Given the description of an element on the screen output the (x, y) to click on. 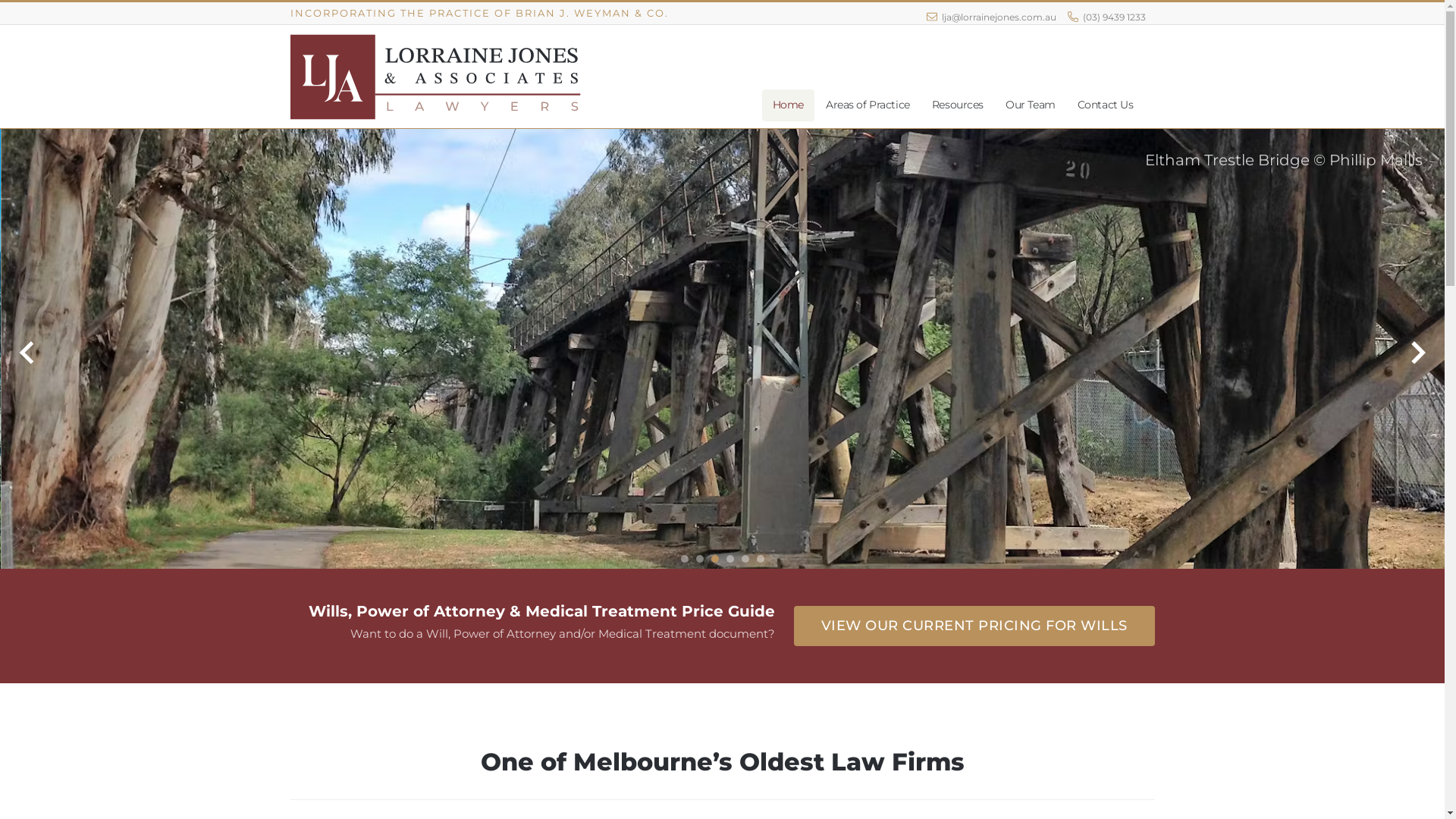
lja@lorrainejones.com.au Element type: text (991, 16)
Resources Element type: text (957, 105)
VIEW OUR CURRENT PRICING FOR WILLS Element type: text (973, 625)
Contact Us Element type: text (1105, 105)
Our Team Element type: text (1030, 105)
(03) 9439 1233 Element type: text (1106, 16)
Home Element type: text (788, 105)
LET'S TALK Element type: text (721, 412)
Areas of Practice Element type: text (867, 105)
